Given the description of an element on the screen output the (x, y) to click on. 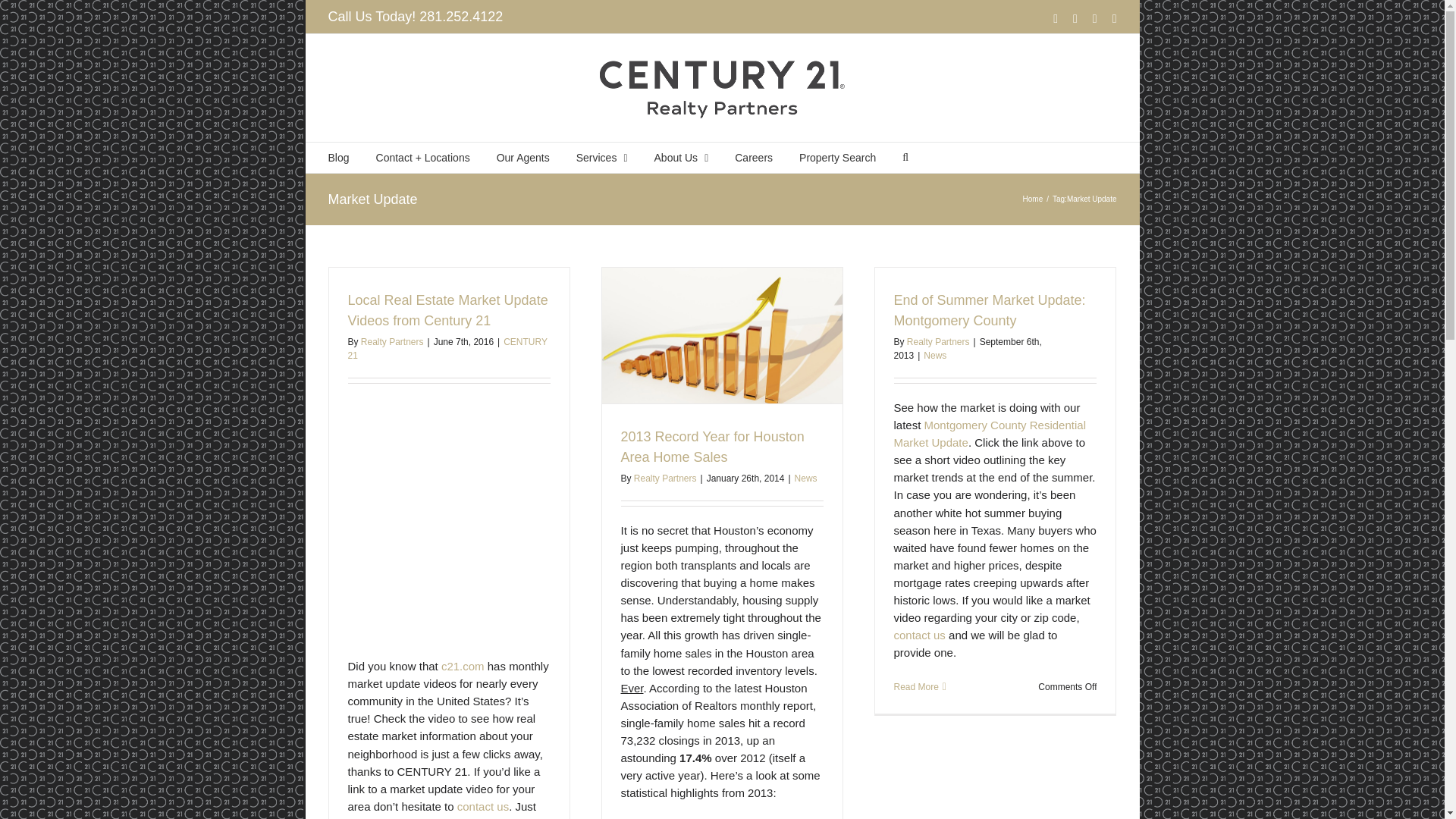
Blog (338, 157)
Our Agents (523, 157)
Careers (754, 157)
Contact Us (918, 634)
Property Search (837, 157)
Search (905, 157)
Montgomery County Residential Market Update (988, 433)
About Us (681, 157)
Posts by Realty Partners (392, 341)
Facebook (1055, 19)
Twitter (1095, 19)
Posts by Realty Partners (938, 341)
Posts by Realty Partners (665, 478)
LinkedIn (1075, 19)
Services (601, 157)
